Given the description of an element on the screen output the (x, y) to click on. 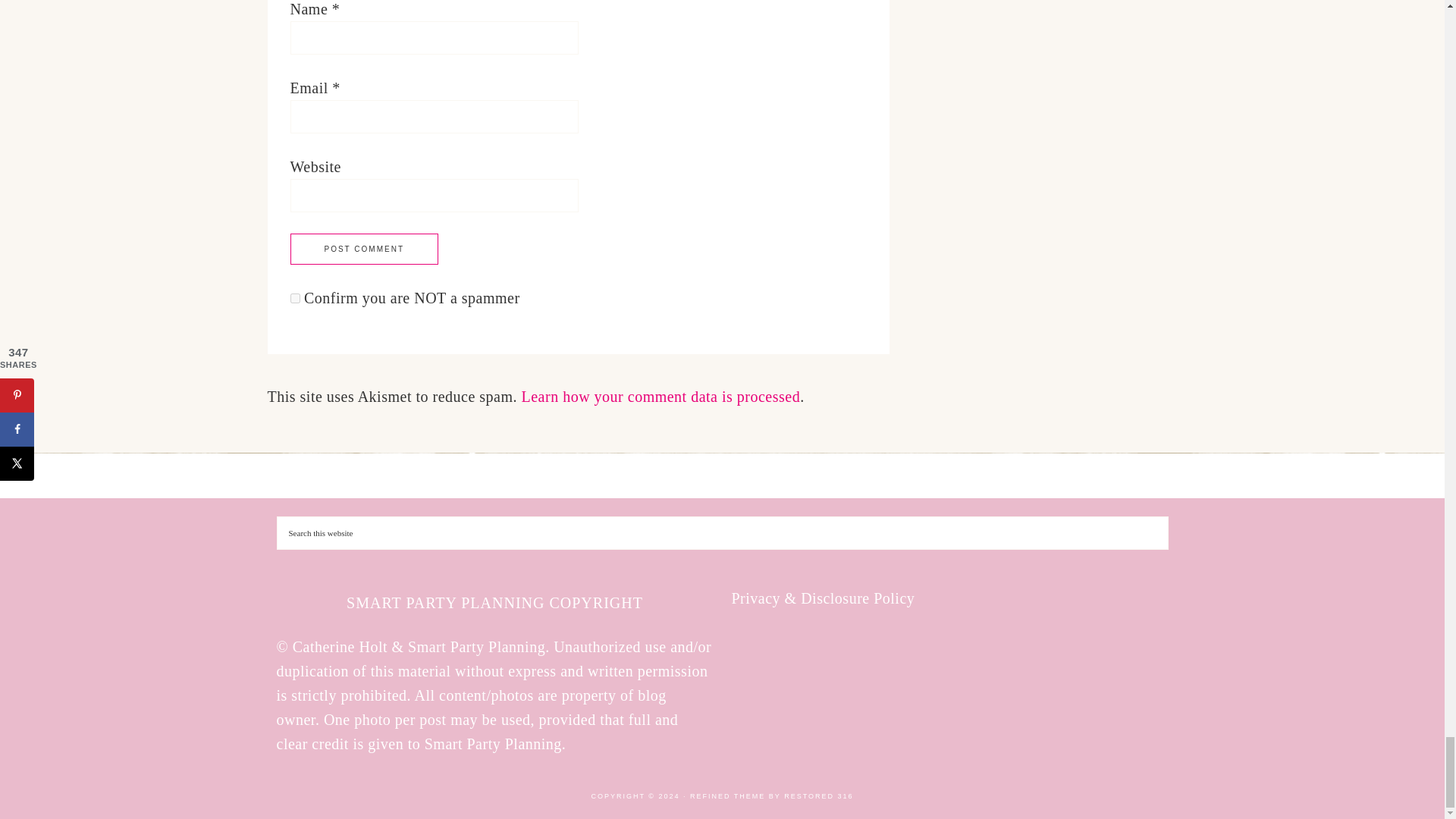
Post Comment (363, 248)
on (294, 298)
